Given the description of an element on the screen output the (x, y) to click on. 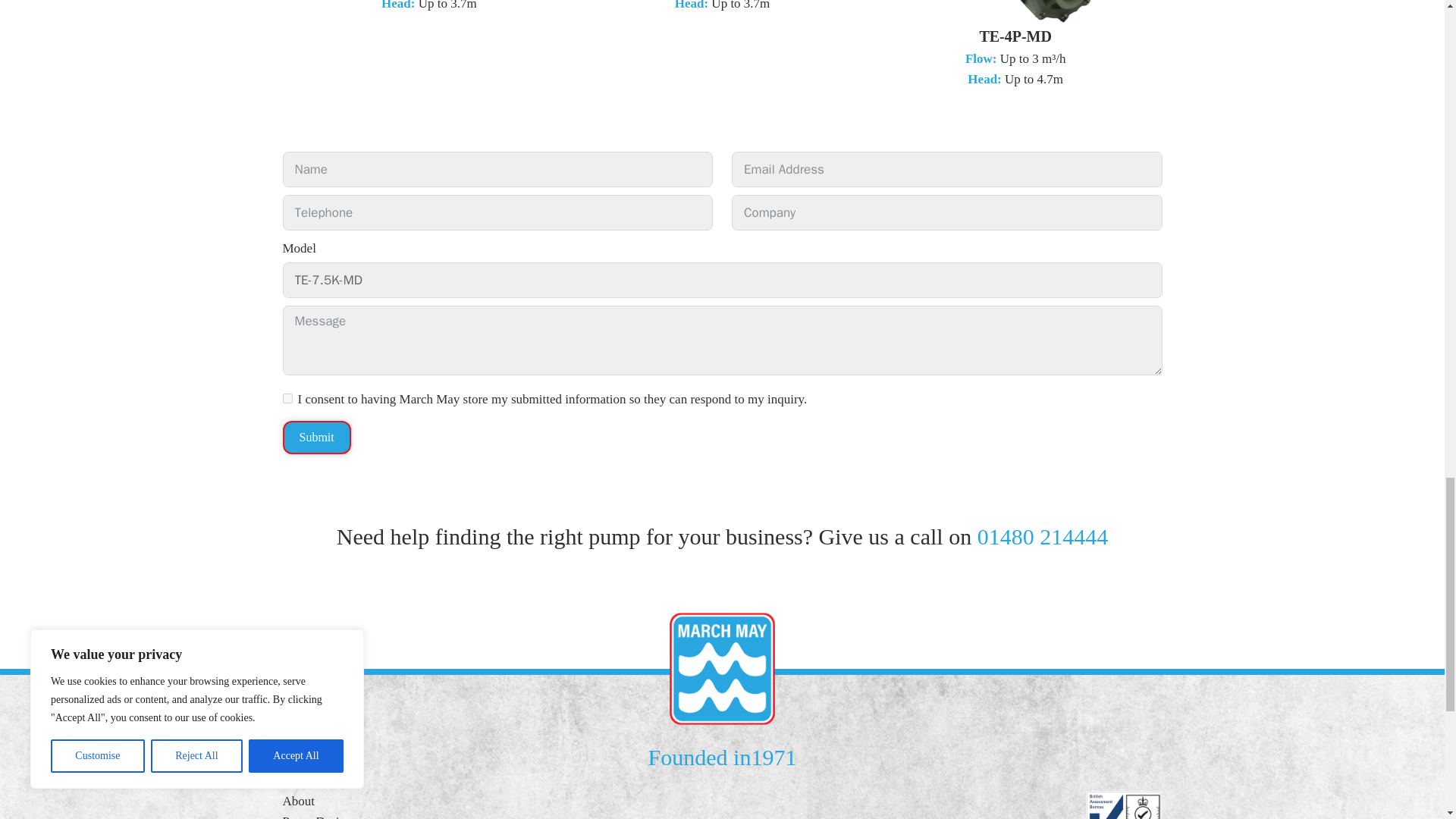
TE-7.5K-MD (721, 280)
on (287, 398)
